Given the description of an element on the screen output the (x, y) to click on. 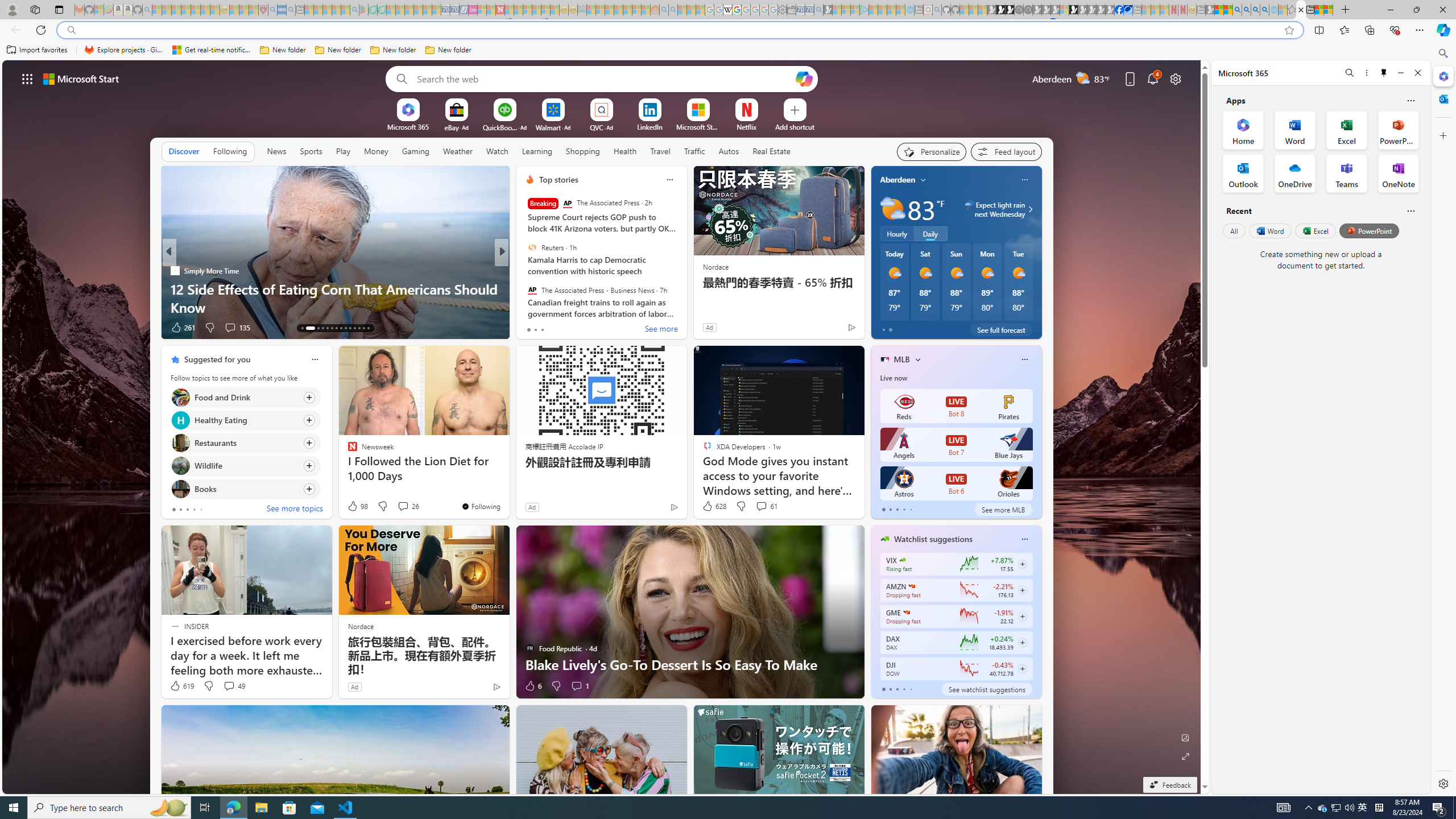
2009 Bing officially replaced Live Search on June 3 - Search (1246, 9)
628 Like (713, 505)
Watchlist suggestions (932, 538)
Top stories (558, 179)
Future Focus Report 2024 - Sleeping (1027, 9)
tab-1 (889, 689)
